Given the description of an element on the screen output the (x, y) to click on. 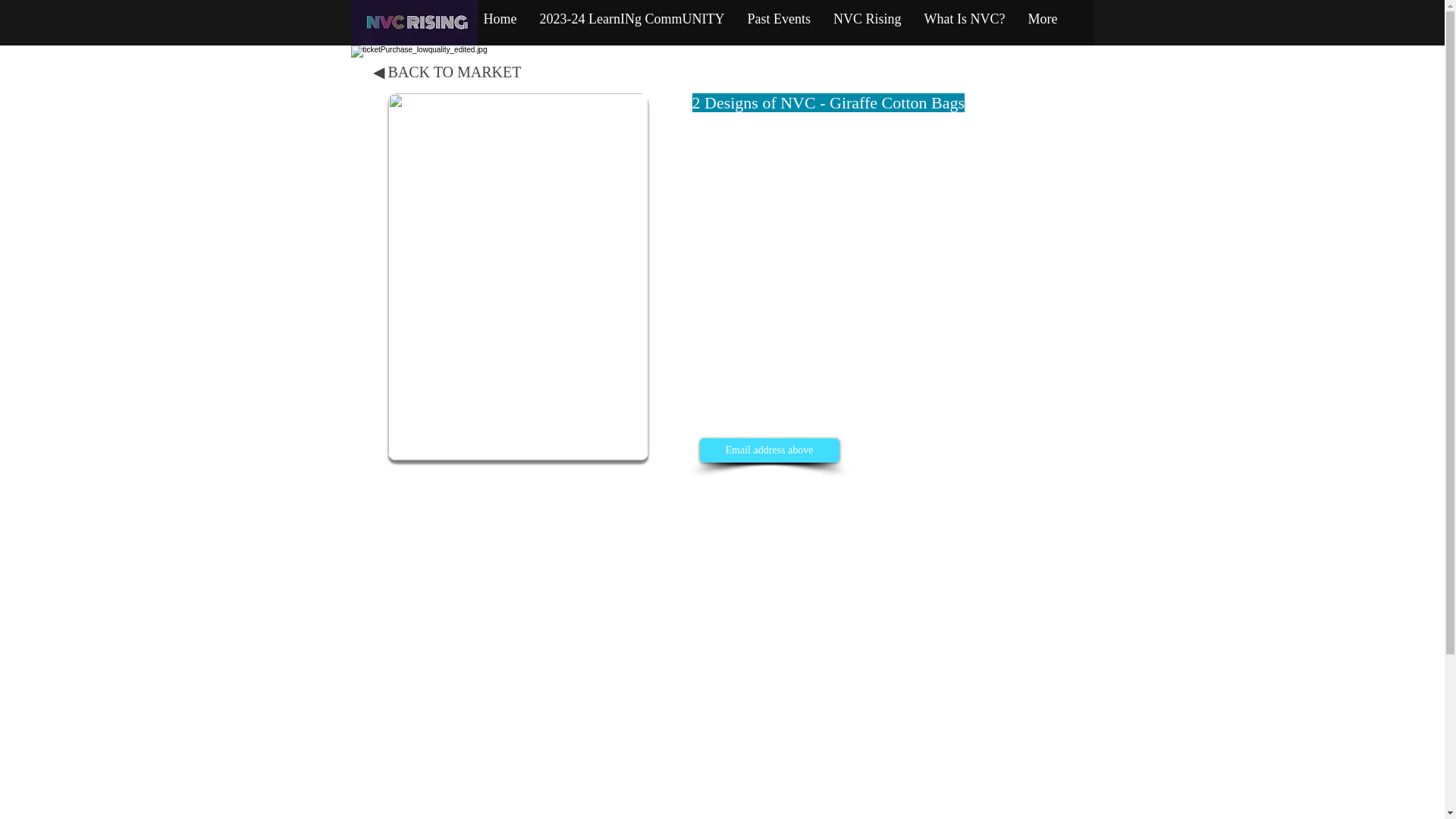
What Is NVC? (964, 21)
Home (499, 21)
2023-24 LearnINg CommUNITY (631, 21)
